Given the description of an element on the screen output the (x, y) to click on. 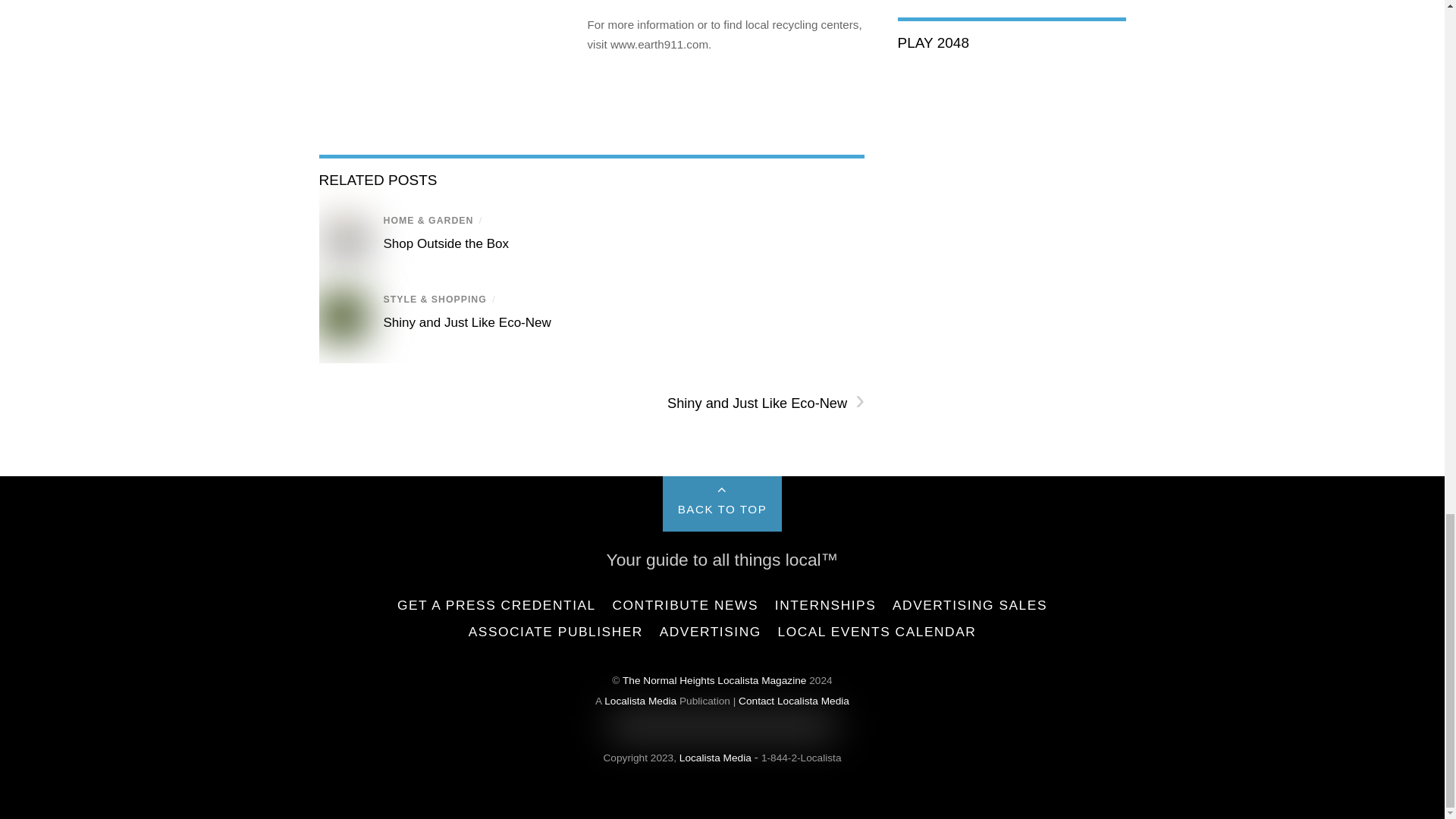
Shop Outside the Box (446, 243)
Shiny and Just Like Eco-New (467, 322)
renewable energy (343, 317)
